Given the description of an element on the screen output the (x, y) to click on. 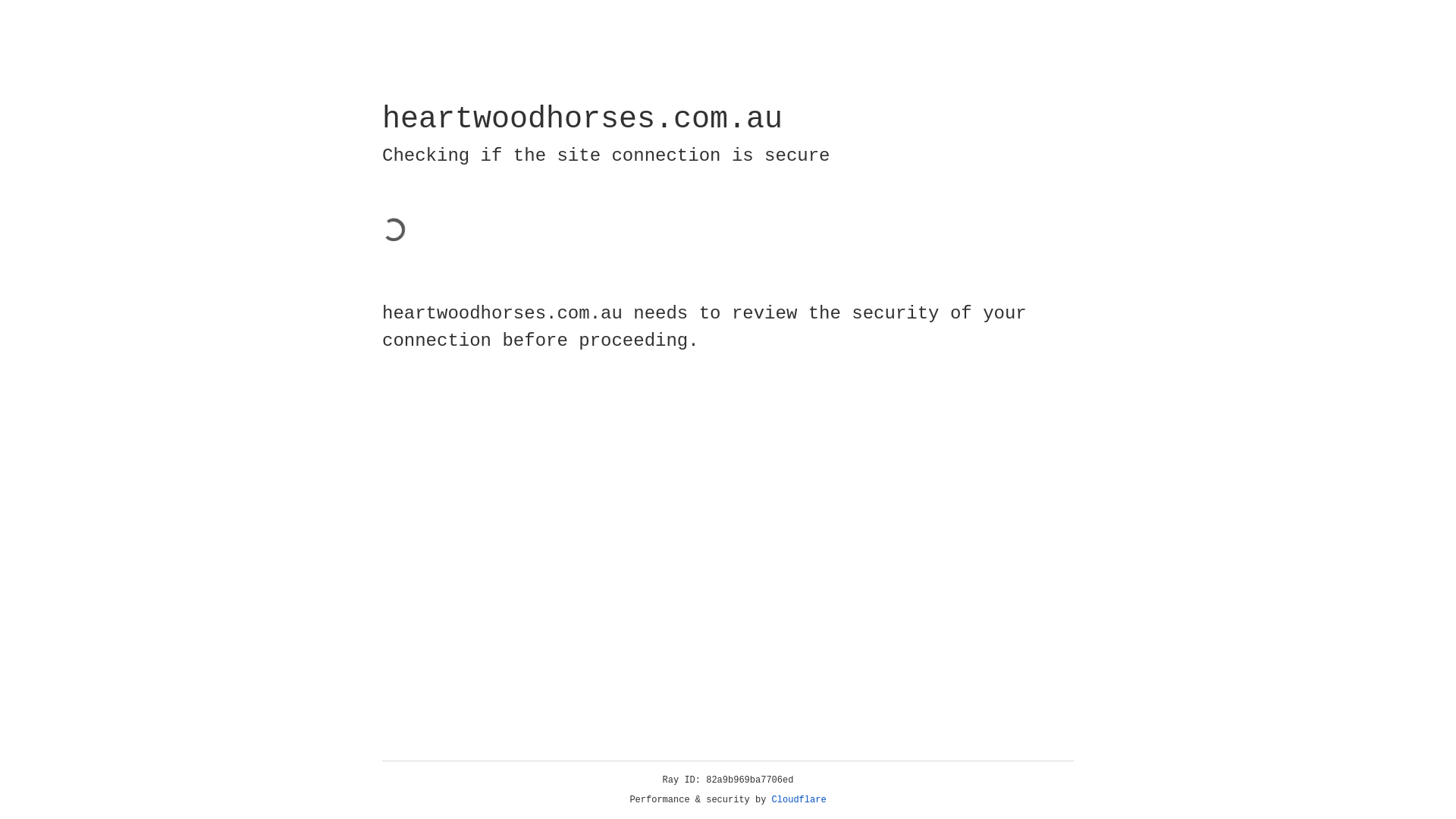
Cloudflare Element type: text (798, 799)
